Given the description of an element on the screen output the (x, y) to click on. 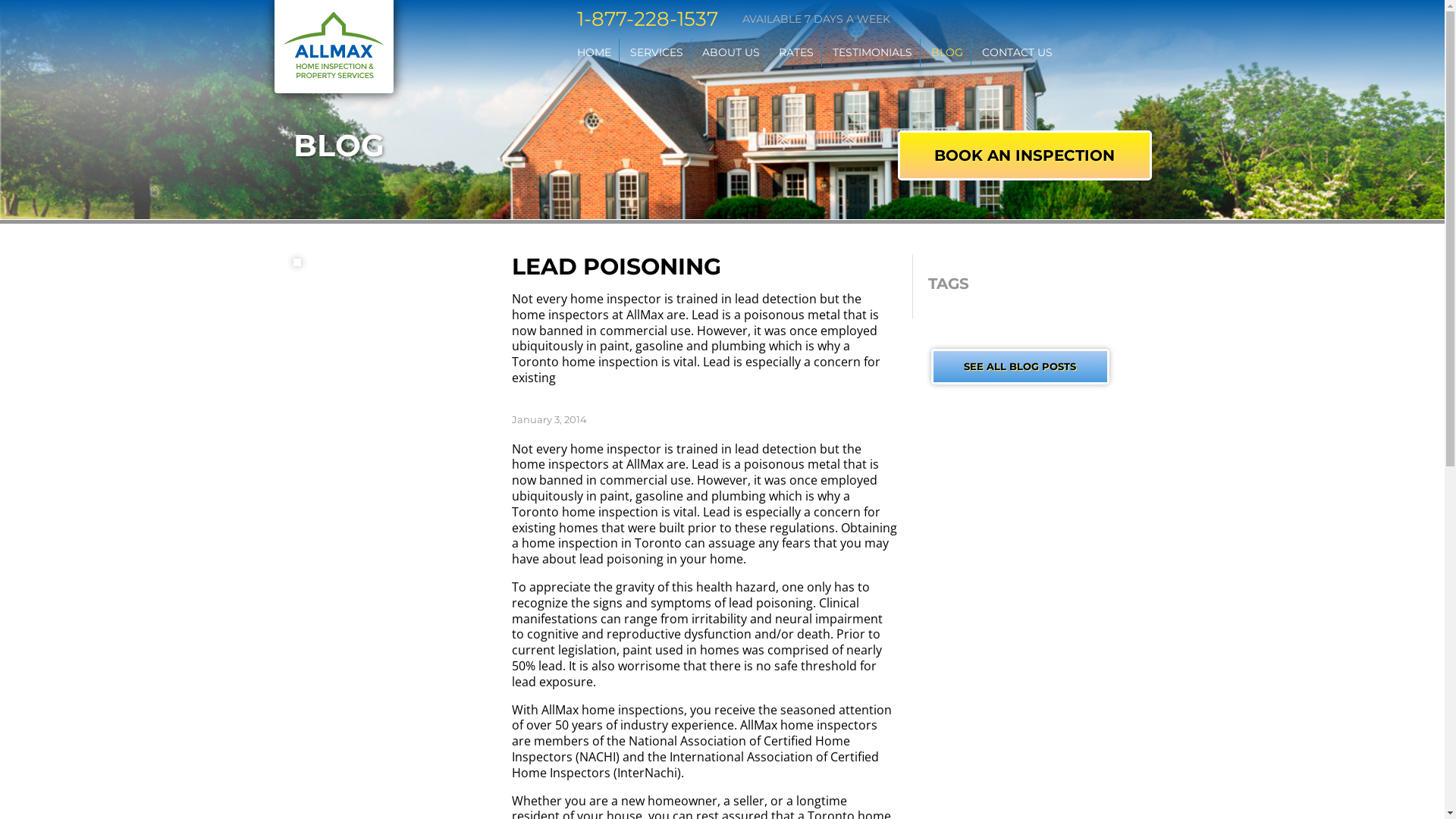
BLOG Element type: text (946, 52)
1-877-228-1537 Element type: text (646, 19)
BOOK AN INSPECTION Element type: text (1024, 155)
TESTIMONIALS Element type: text (872, 52)
RATES Element type: text (795, 52)
CONTACT US Element type: text (1016, 52)
HOME Element type: text (593, 52)
SEE ALL BLOG POSTS Element type: text (1020, 366)
ABOUT US Element type: text (730, 52)
SERVICES Element type: text (655, 52)
